Given the description of an element on the screen output the (x, y) to click on. 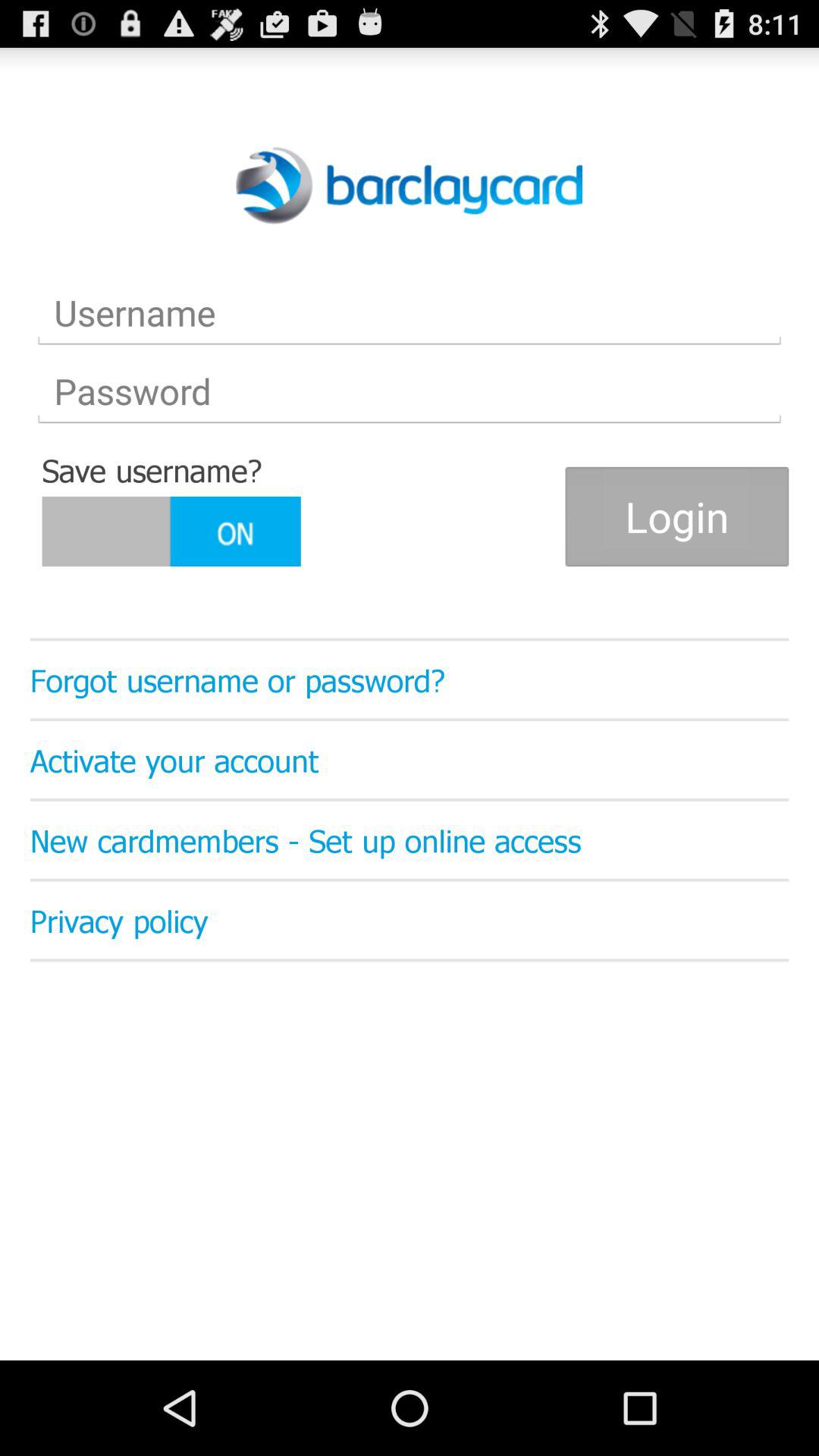
turn on the privacy policy icon (409, 920)
